Given the description of an element on the screen output the (x, y) to click on. 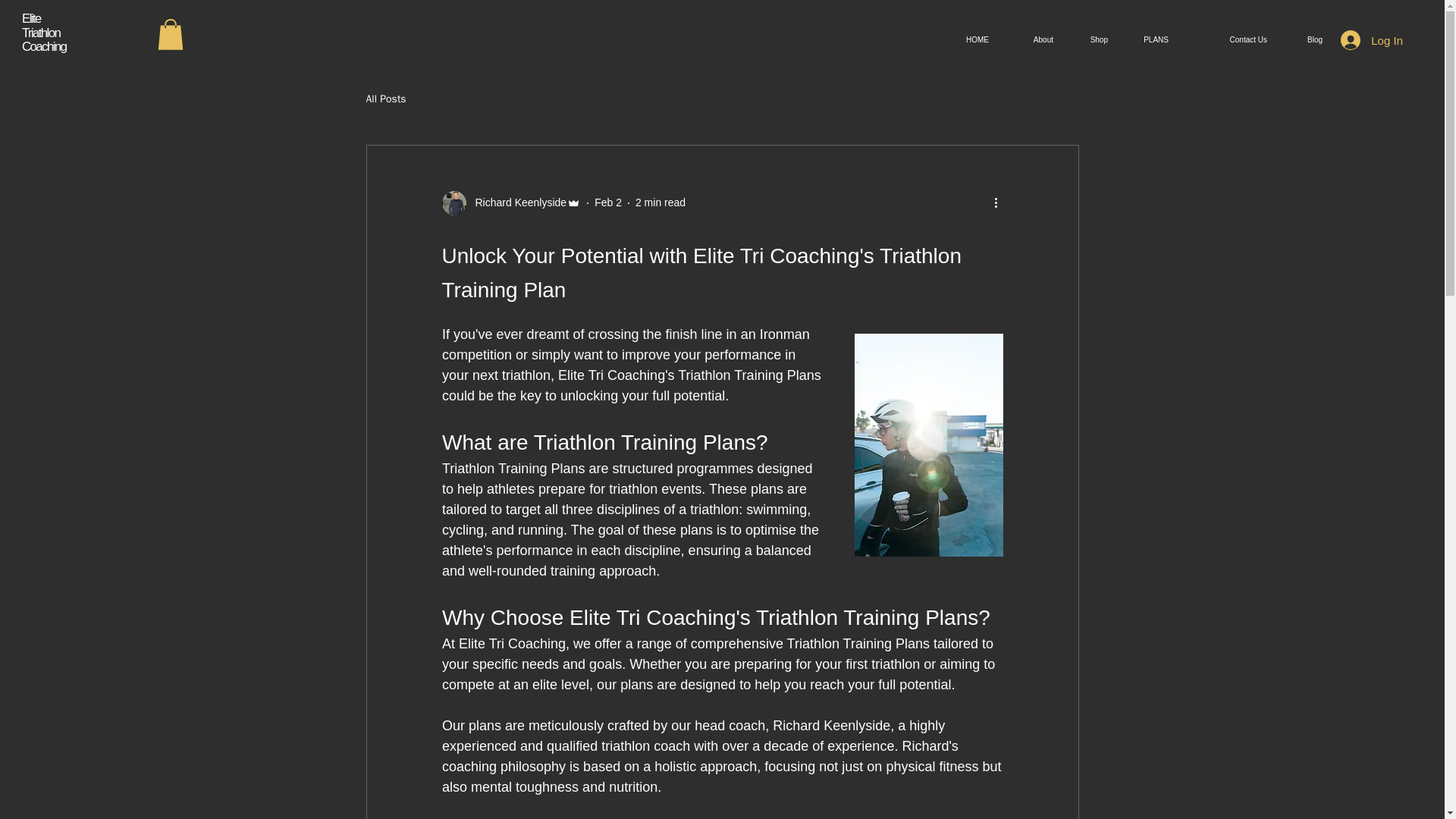
Elite (30, 18)
Richard Keenlyside (510, 202)
About (1032, 39)
Log In (1371, 39)
Shop (1091, 39)
Feb 2 (607, 202)
PLANS (1149, 39)
2 min read (659, 202)
Contact Us (1228, 39)
All Posts (385, 99)
